Given the description of an element on the screen output the (x, y) to click on. 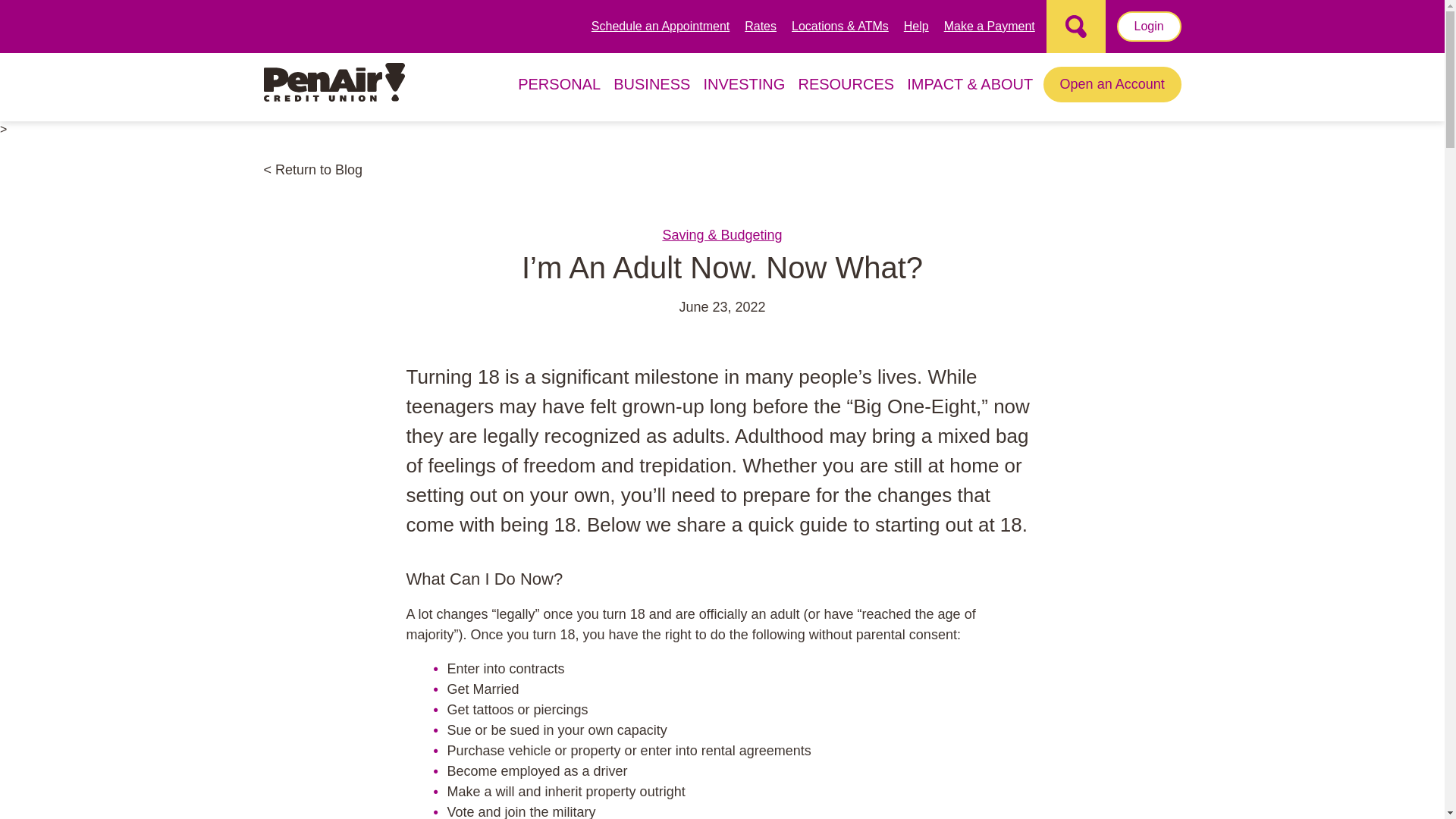
Help (916, 26)
Rates (760, 26)
Make a Payment (989, 26)
Login (1148, 26)
Schedule an Appointment (659, 26)
PERSONAL (559, 98)
